Given the description of an element on the screen output the (x, y) to click on. 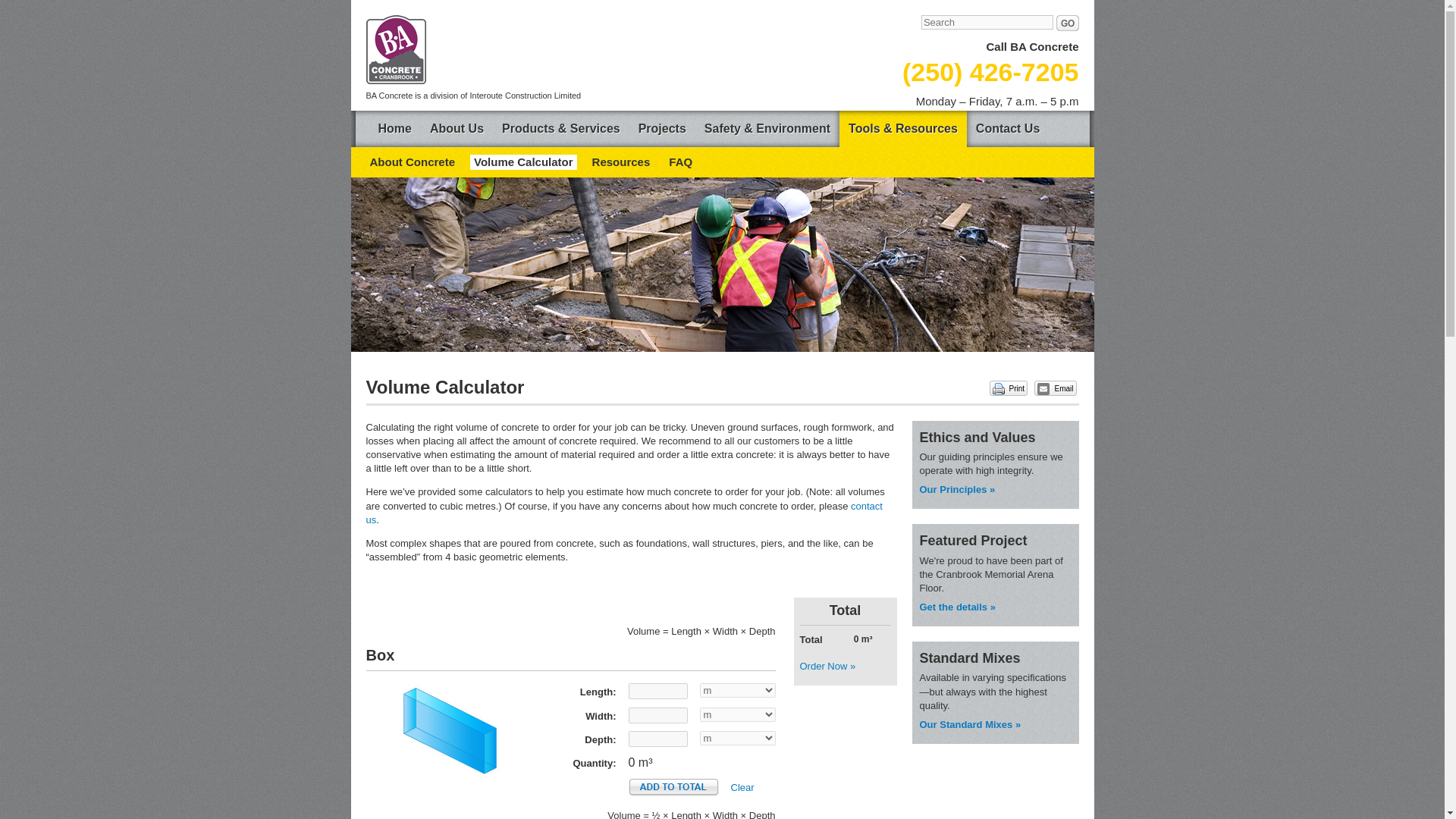
Cranbrook Memorial Arena Floor (956, 606)
Projects (661, 128)
About Us (456, 128)
Contact Us (623, 512)
Home (394, 128)
Ready-Mix Concrete (969, 724)
Contact Us (1007, 128)
Ethics and Values (956, 489)
